Given the description of an element on the screen output the (x, y) to click on. 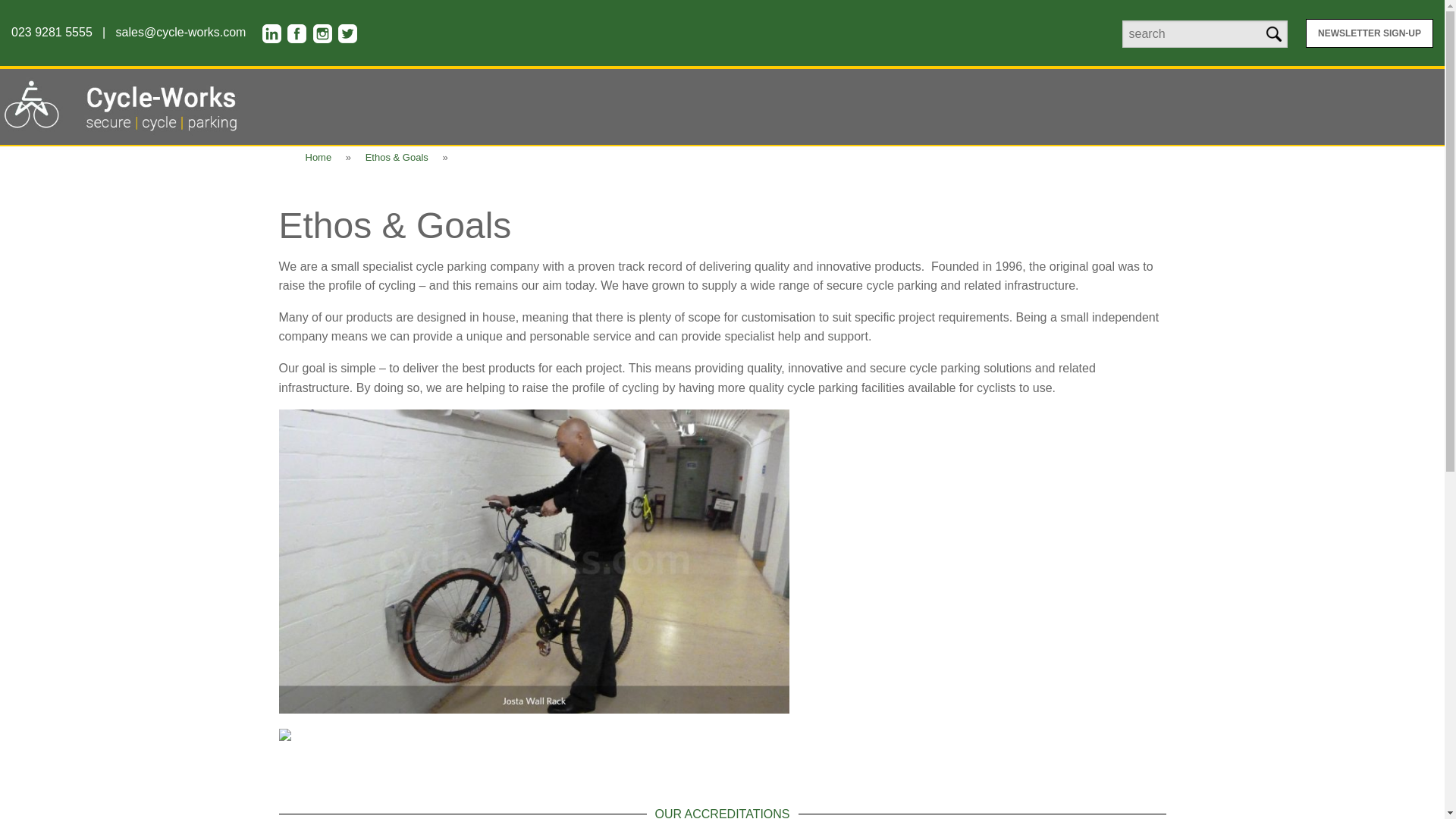
Home (318, 157)
NEWSLETTER SIGN-UP (1369, 32)
